Given the description of an element on the screen output the (x, y) to click on. 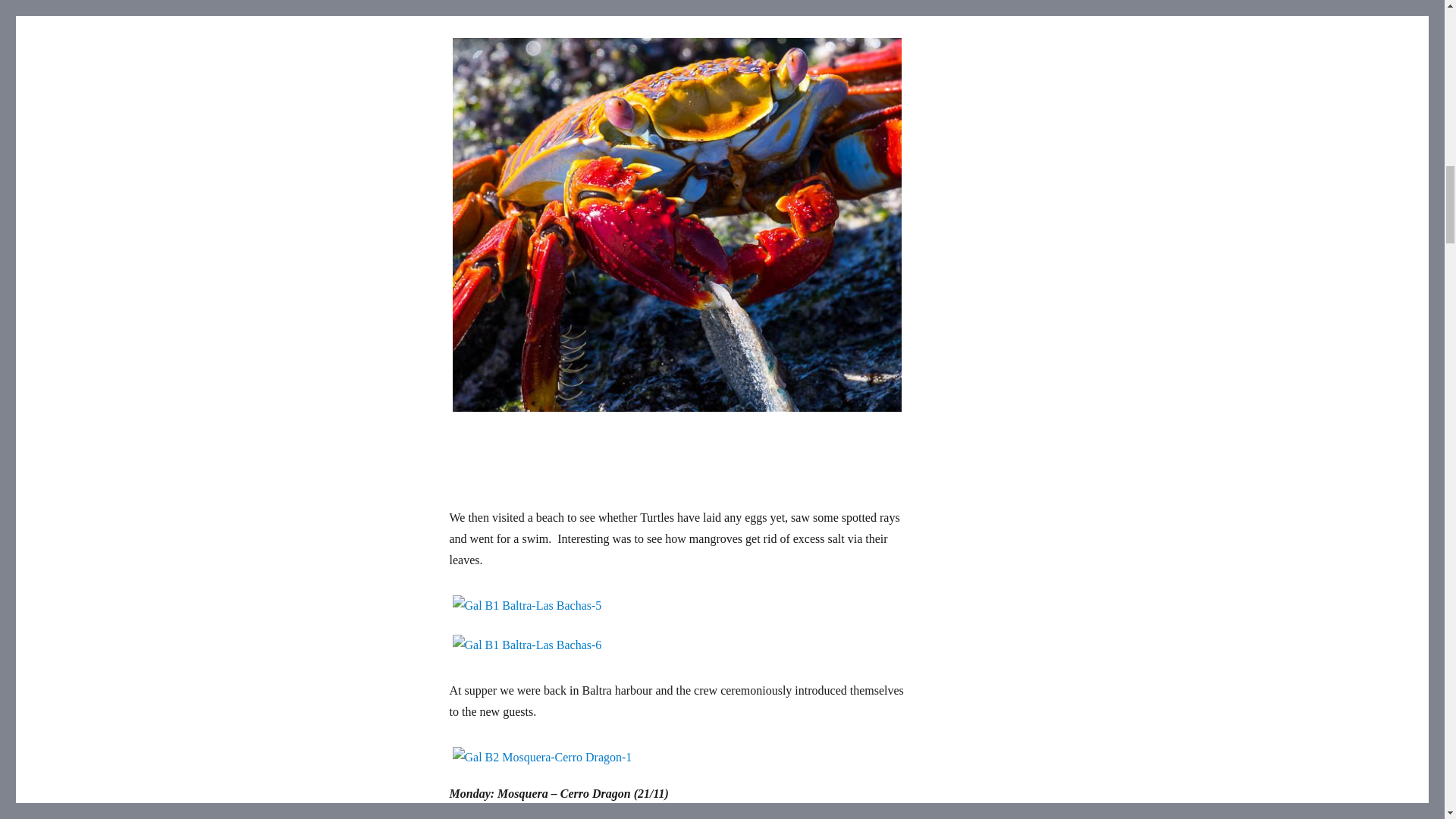
Gal B1 Baltra-Las Bachas-5 (676, 605)
Gal B1 Baltra-Las Bachas-6 (676, 645)
Gal B2 Mosquera-Cerro Dragon-1 (676, 757)
Gal B1 Baltra-Las Bachas-3 (676, 11)
